Given the description of an element on the screen output the (x, y) to click on. 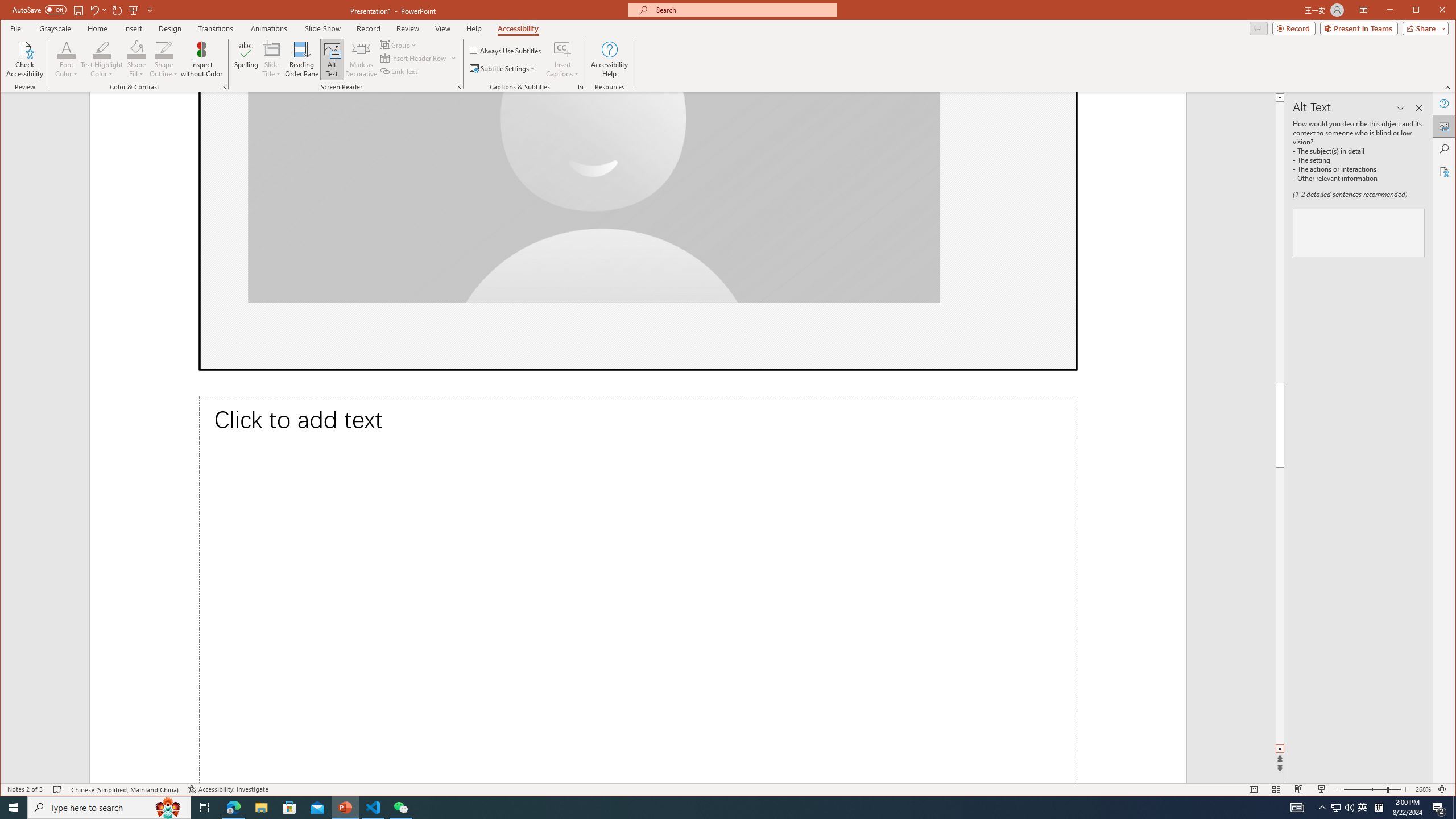
Description (1358, 232)
